Given the description of an element on the screen output the (x, y) to click on. 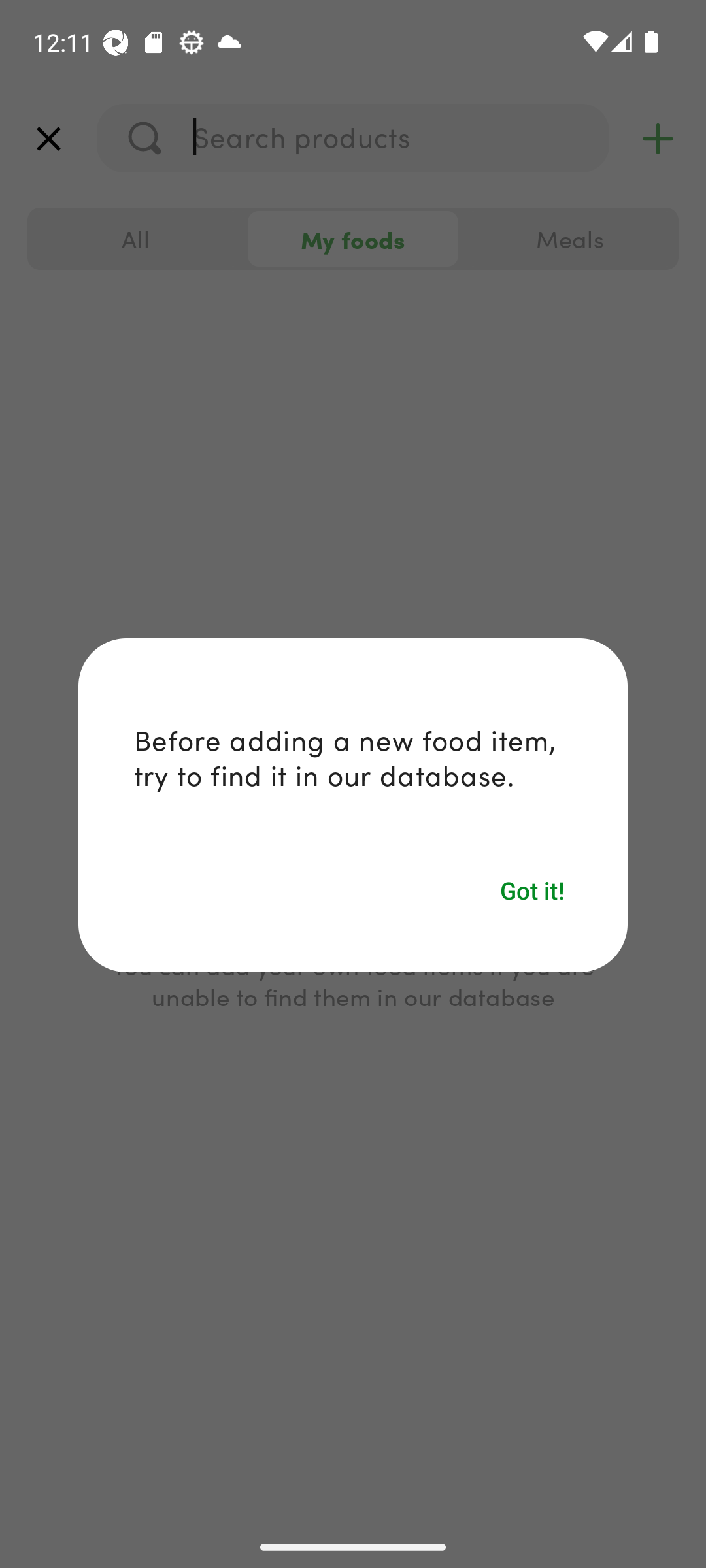
Got it! (532, 890)
